Given the description of an element on the screen output the (x, y) to click on. 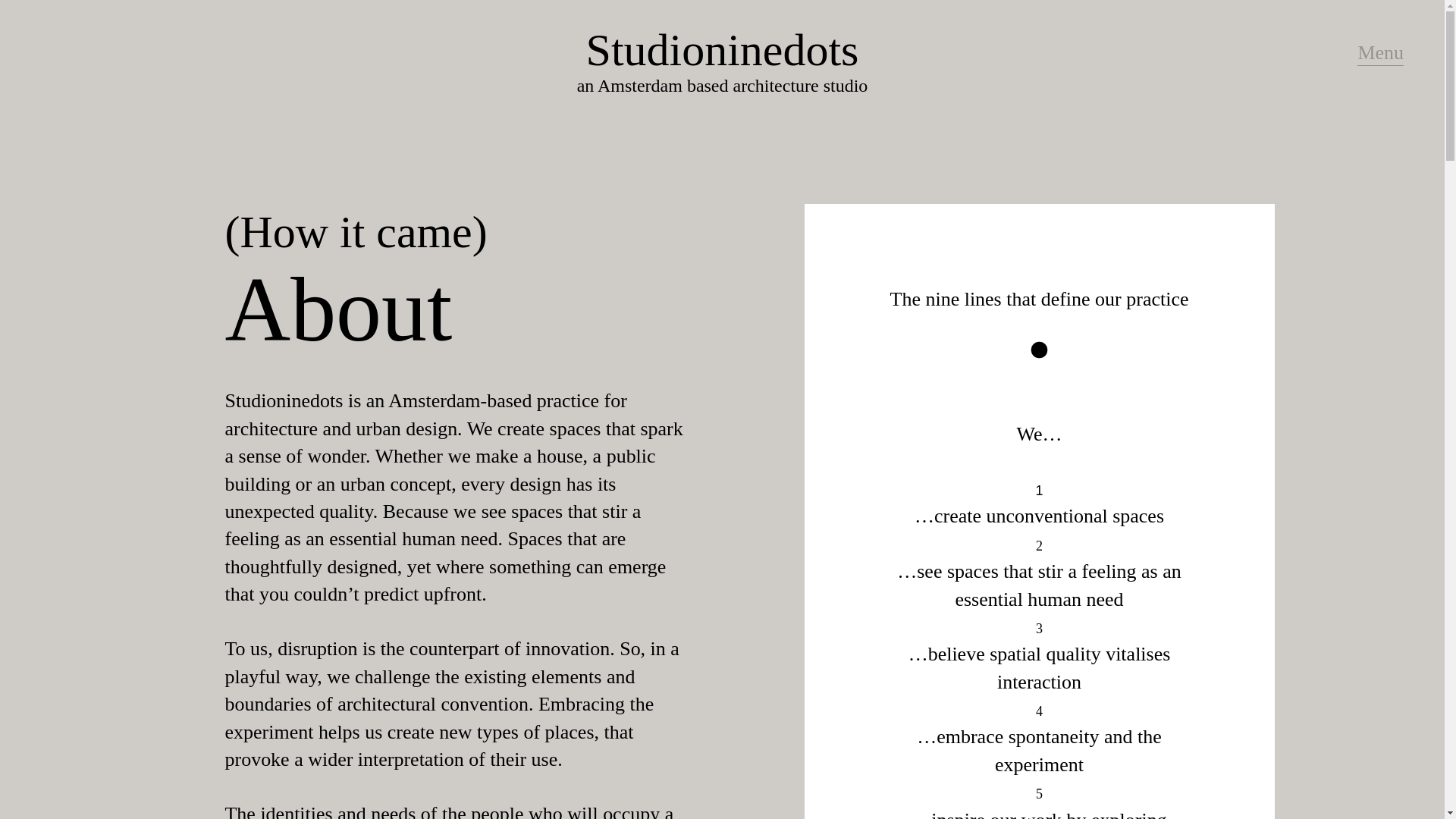
Menu (1379, 53)
Studioninedots (722, 50)
